Given the description of an element on the screen output the (x, y) to click on. 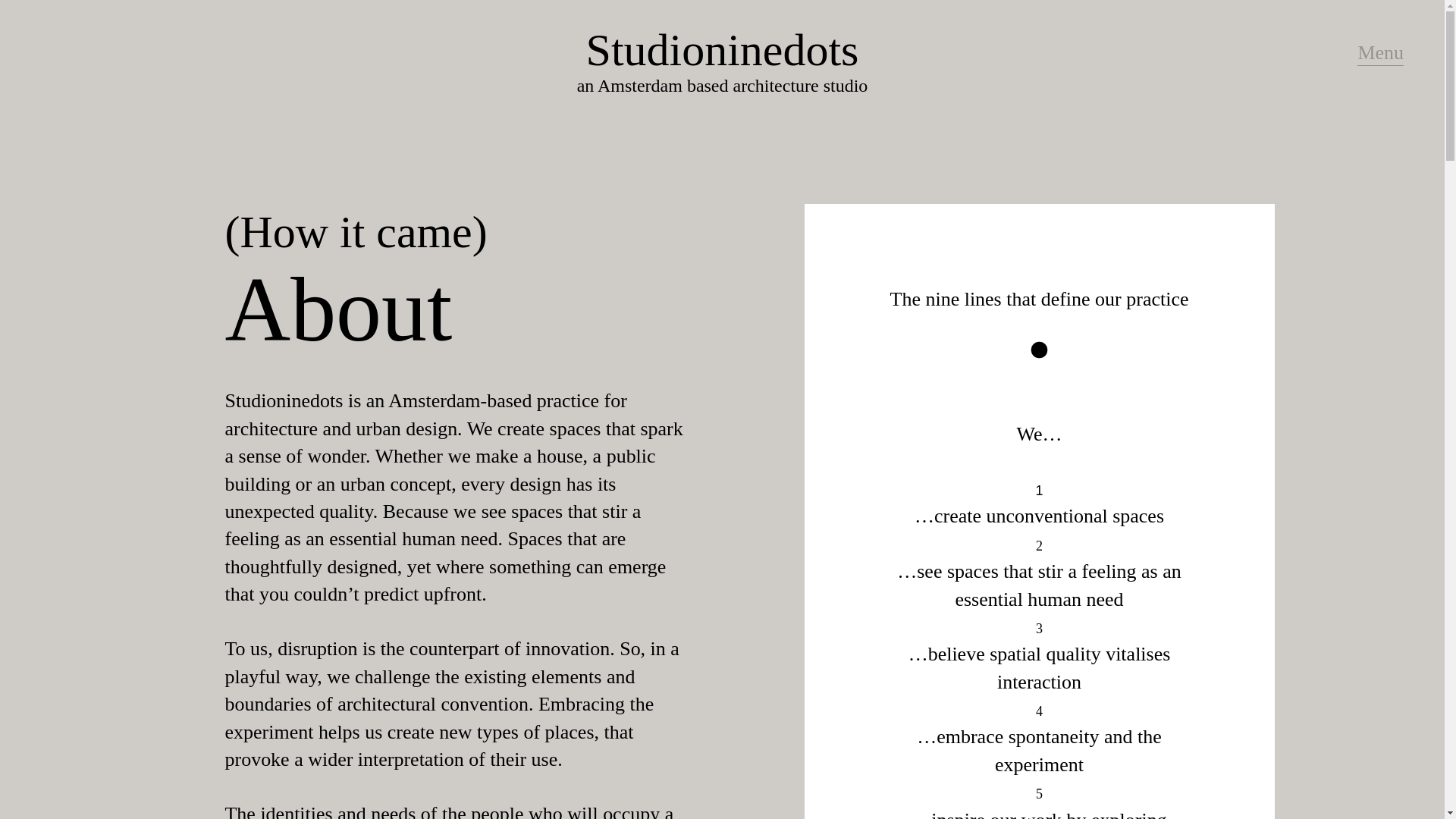
Menu (1379, 53)
Studioninedots (722, 50)
